Given the description of an element on the screen output the (x, y) to click on. 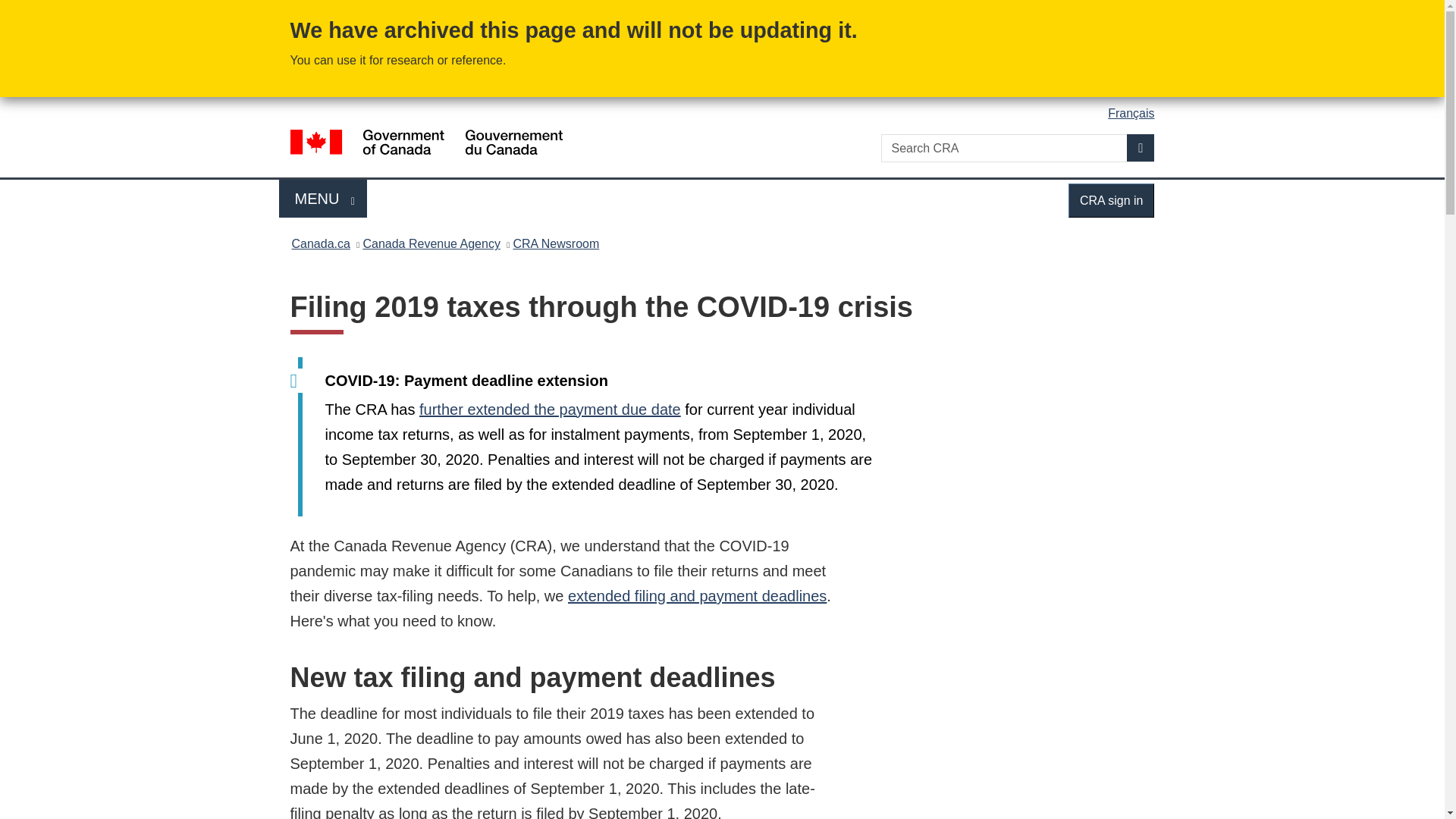
Skip to main content (725, 11)
Canada Revenue Agency (430, 243)
further extended the payment due date (550, 409)
Search (1140, 147)
CRA Newsroom (322, 198)
CRA sign in (555, 243)
extended filing and payment deadlines (1111, 200)
Canada.ca (697, 596)
